Given the description of an element on the screen output the (x, y) to click on. 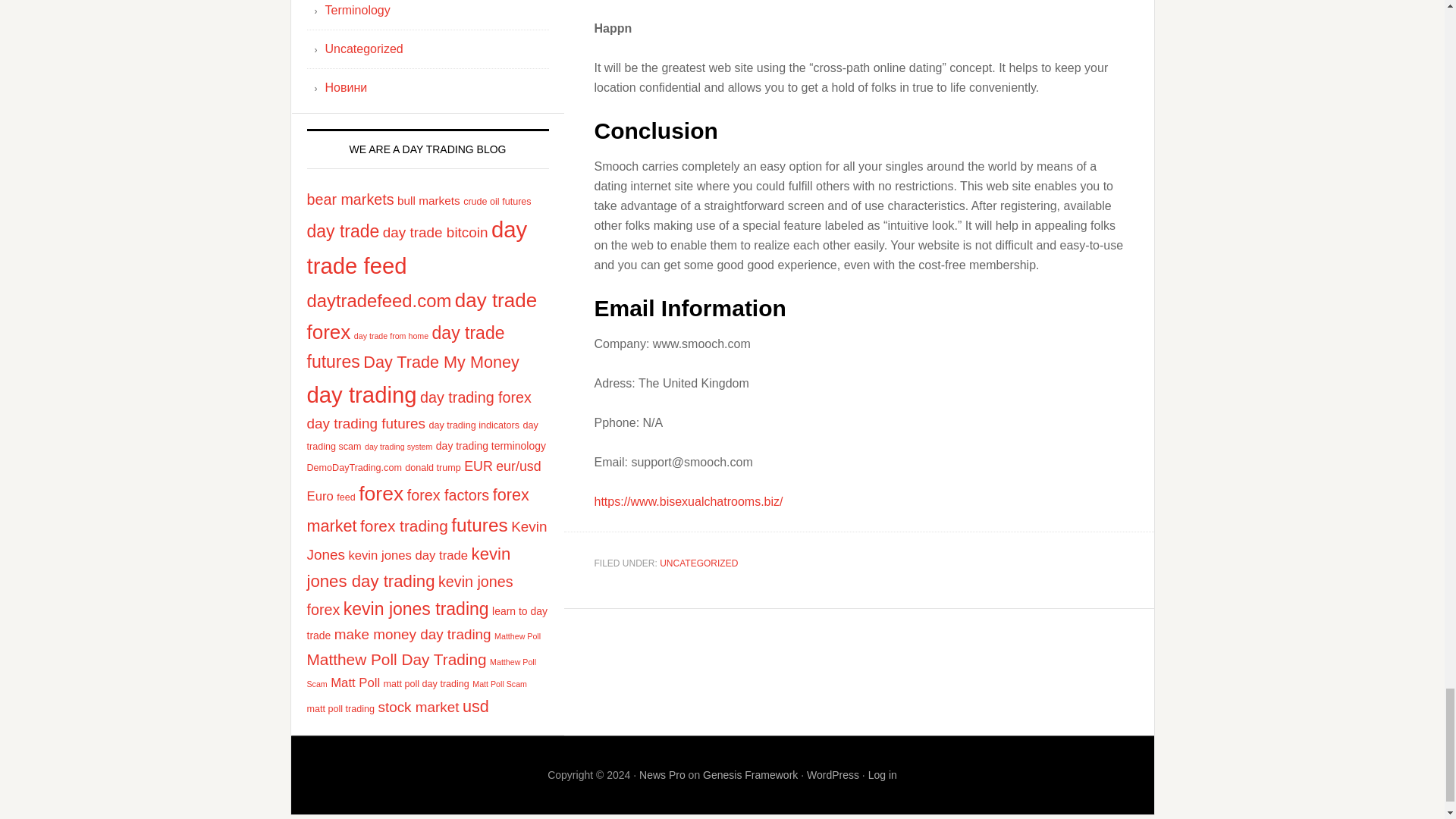
UNCATEGORIZED (698, 562)
